Given the description of an element on the screen output the (x, y) to click on. 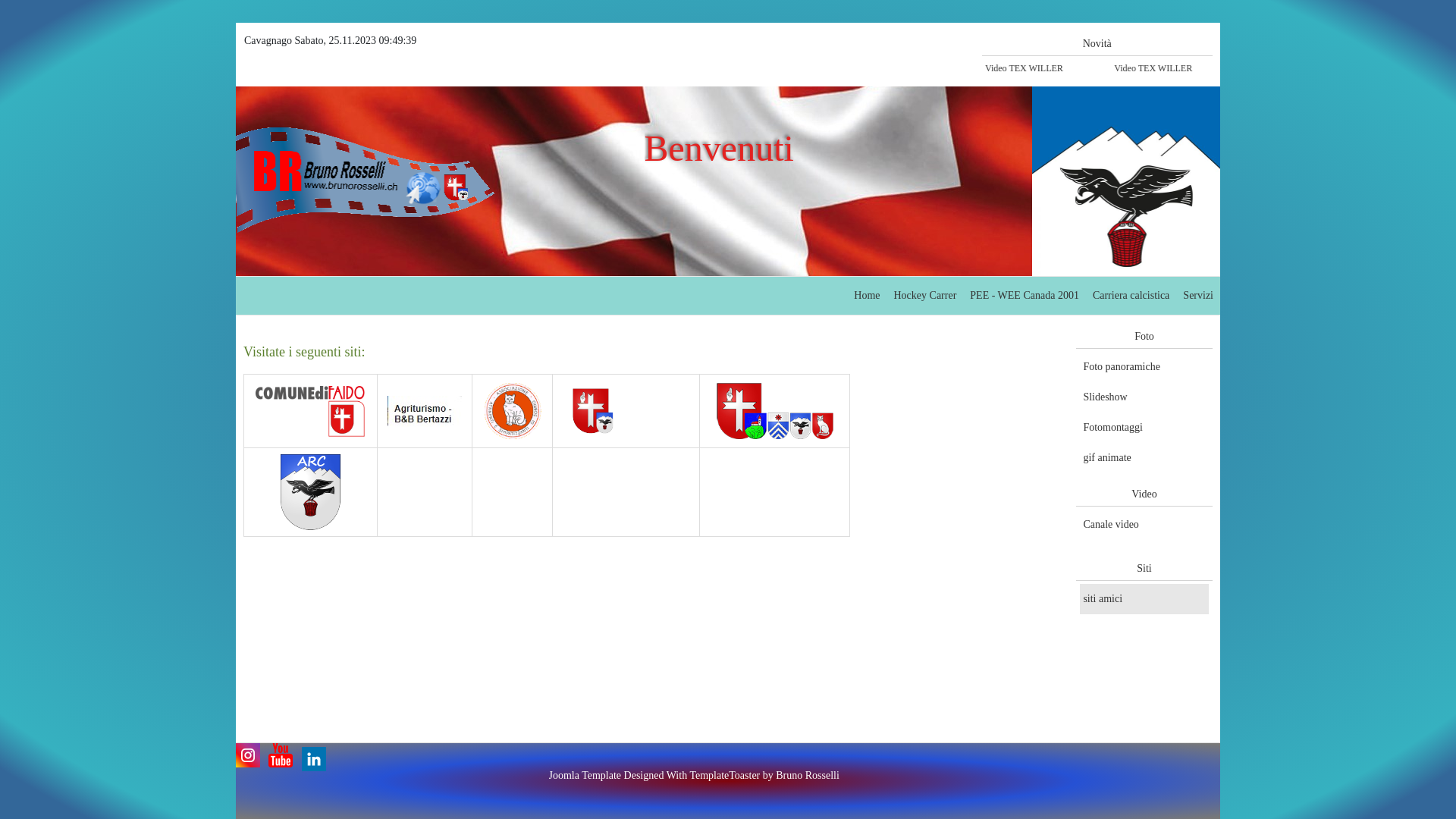
Servizi Element type: text (1197, 295)
Traversa Element type: hover (774, 410)
Joomla Template Element type: text (585, 775)
Hockey Carrer Element type: text (924, 295)
Video TEX WILLER Element type: text (1033, 67)
Associazione Attinenti e simpatizzanti di Sobrio Element type: hover (512, 410)
Foto panoramiche Element type: text (1143, 366)
siti amici Element type: text (1143, 598)
Casa Comunale Cavagnago Element type: hover (625, 410)
Carriera calcistica Element type: text (1130, 295)
Slideshow Element type: text (1143, 397)
PEE - WEE Canada 2001 Element type: text (1024, 295)
gif animate Element type: text (1143, 457)
Fotomontaggi Element type: text (1143, 427)
Canale video Element type: text (1143, 524)
Video TEX WILLER Element type: text (1162, 67)
Home Element type: text (866, 295)
